Given the description of an element on the screen output the (x, y) to click on. 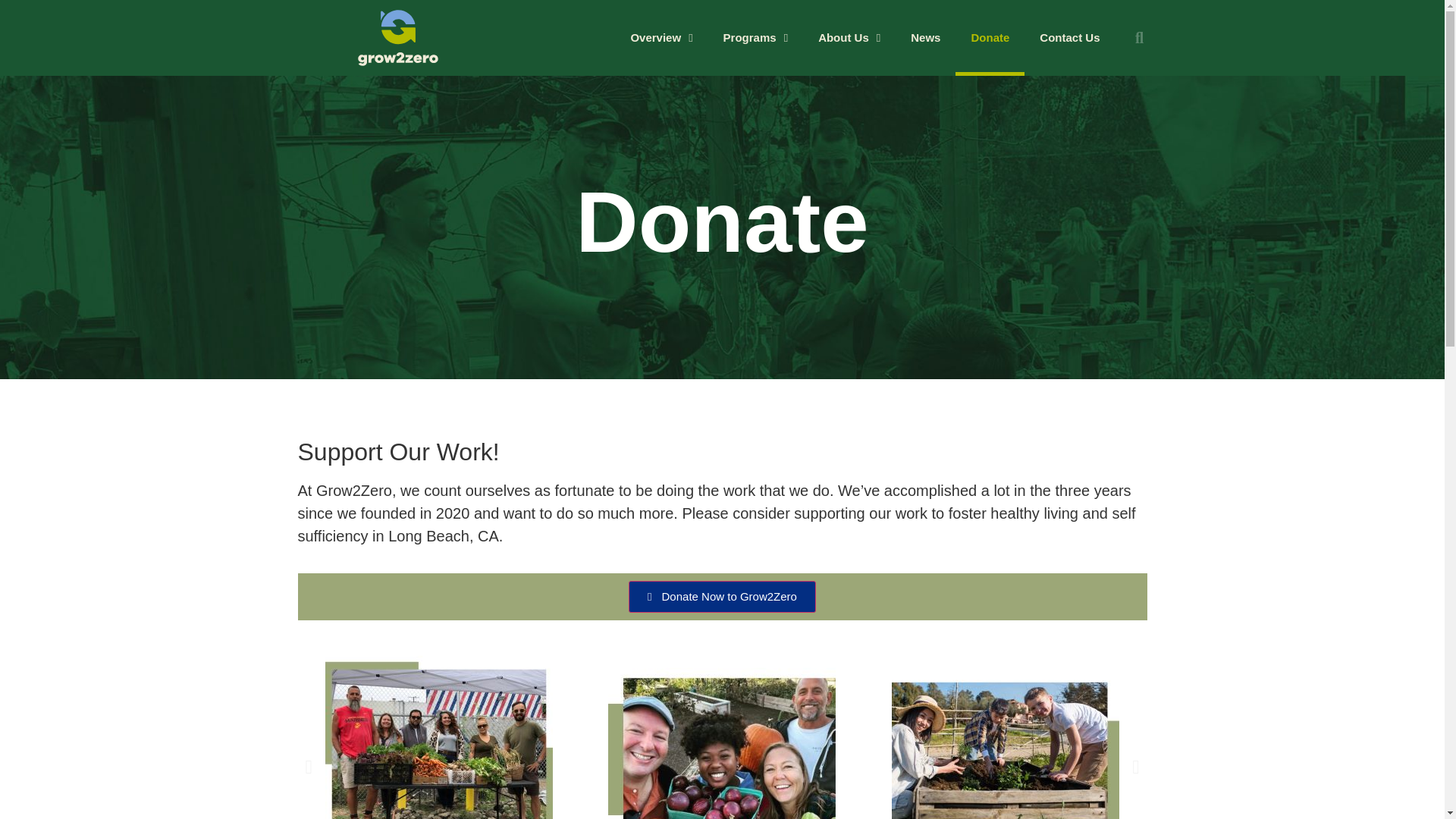
Donate (990, 38)
Contact Us (1070, 38)
Donate Now to Grow2Zero (721, 596)
Programs (755, 38)
About Us (849, 38)
Overview (660, 38)
